Given the description of an element on the screen output the (x, y) to click on. 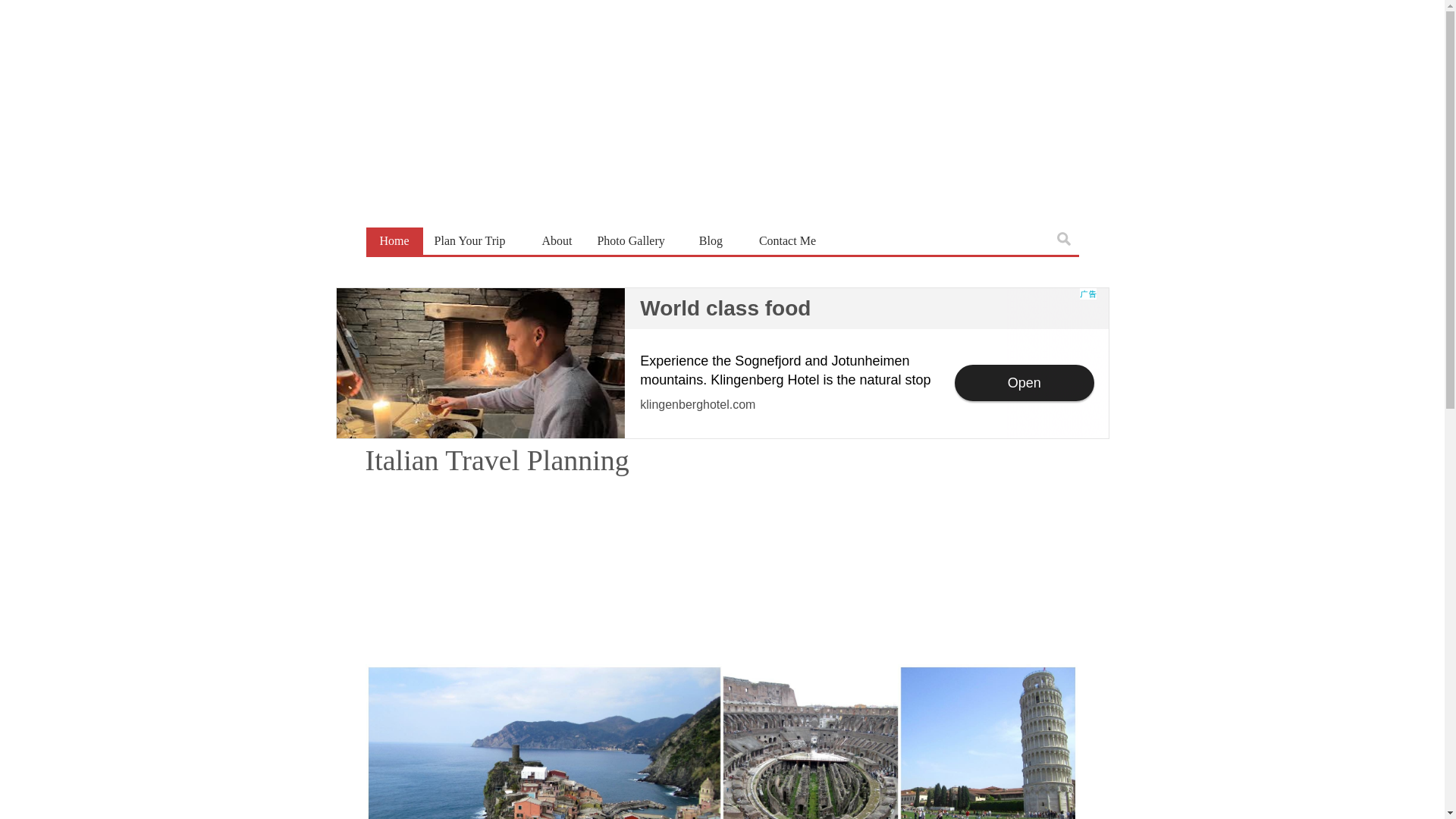
About (556, 240)
Home (393, 240)
Advertisement (721, 573)
Advertisement (721, 362)
